Given the description of an element on the screen output the (x, y) to click on. 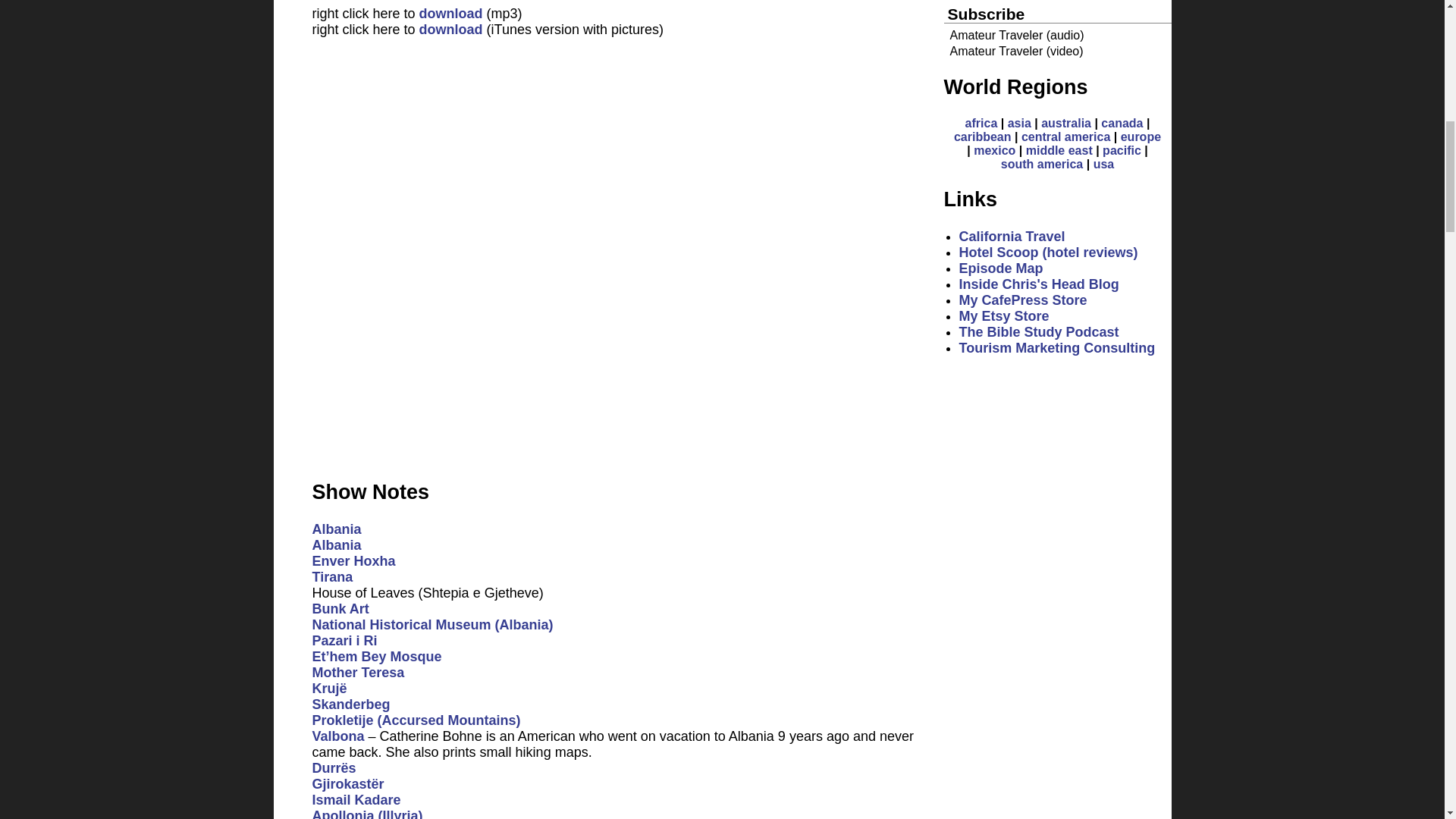
Skanderbeg (351, 703)
Albania (337, 544)
download (451, 13)
Mother Teresa (358, 672)
Albania (337, 529)
Ismail Kadare (357, 799)
Tirana (333, 576)
Pazari i Ri (345, 640)
Valbona (340, 735)
Enver Hoxha (354, 560)
